Given the description of an element on the screen output the (x, y) to click on. 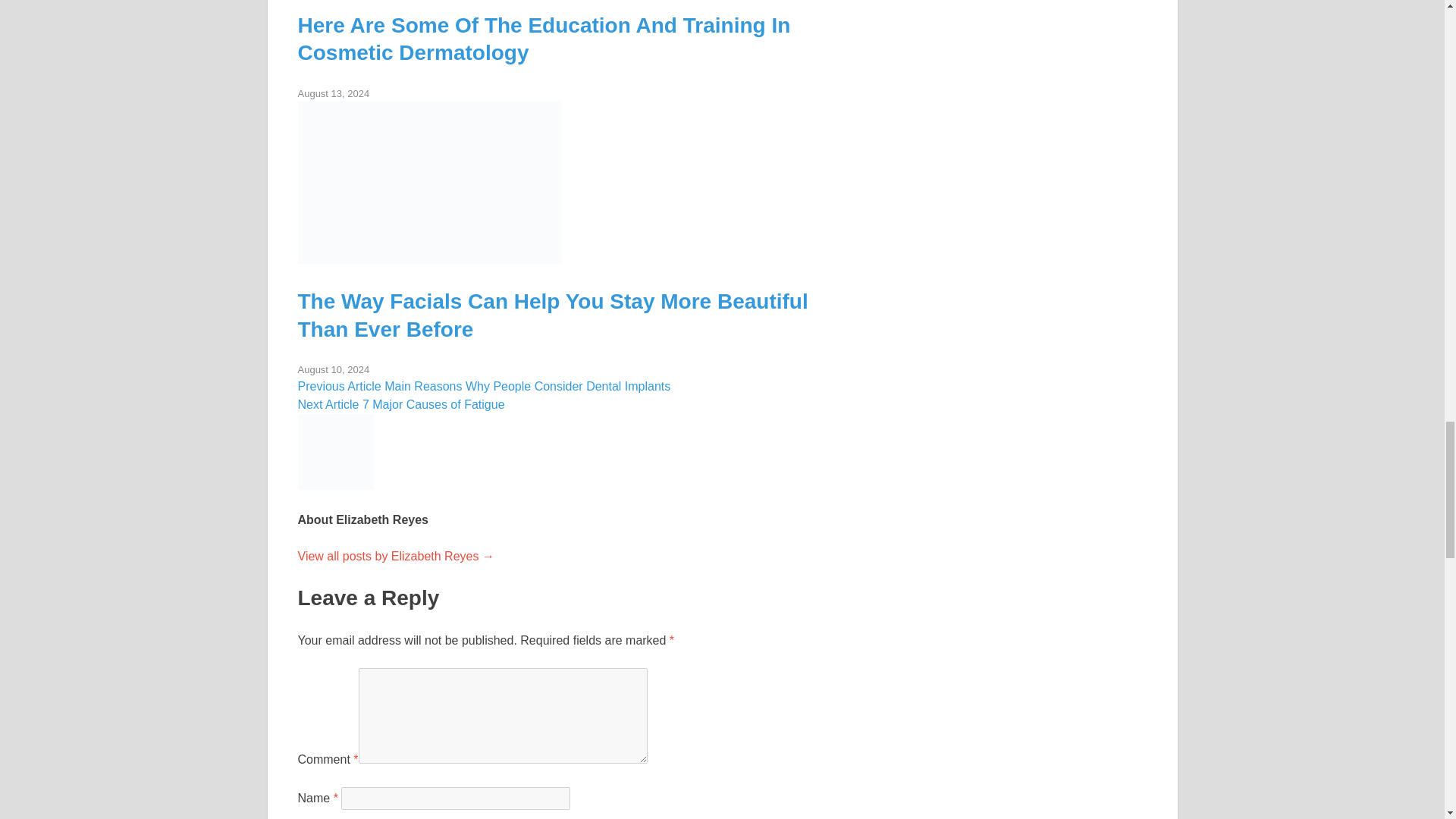
Elizabeth Reyes (395, 555)
Next Article 7 Major Causes of Fatigue (400, 404)
